Given the description of an element on the screen output the (x, y) to click on. 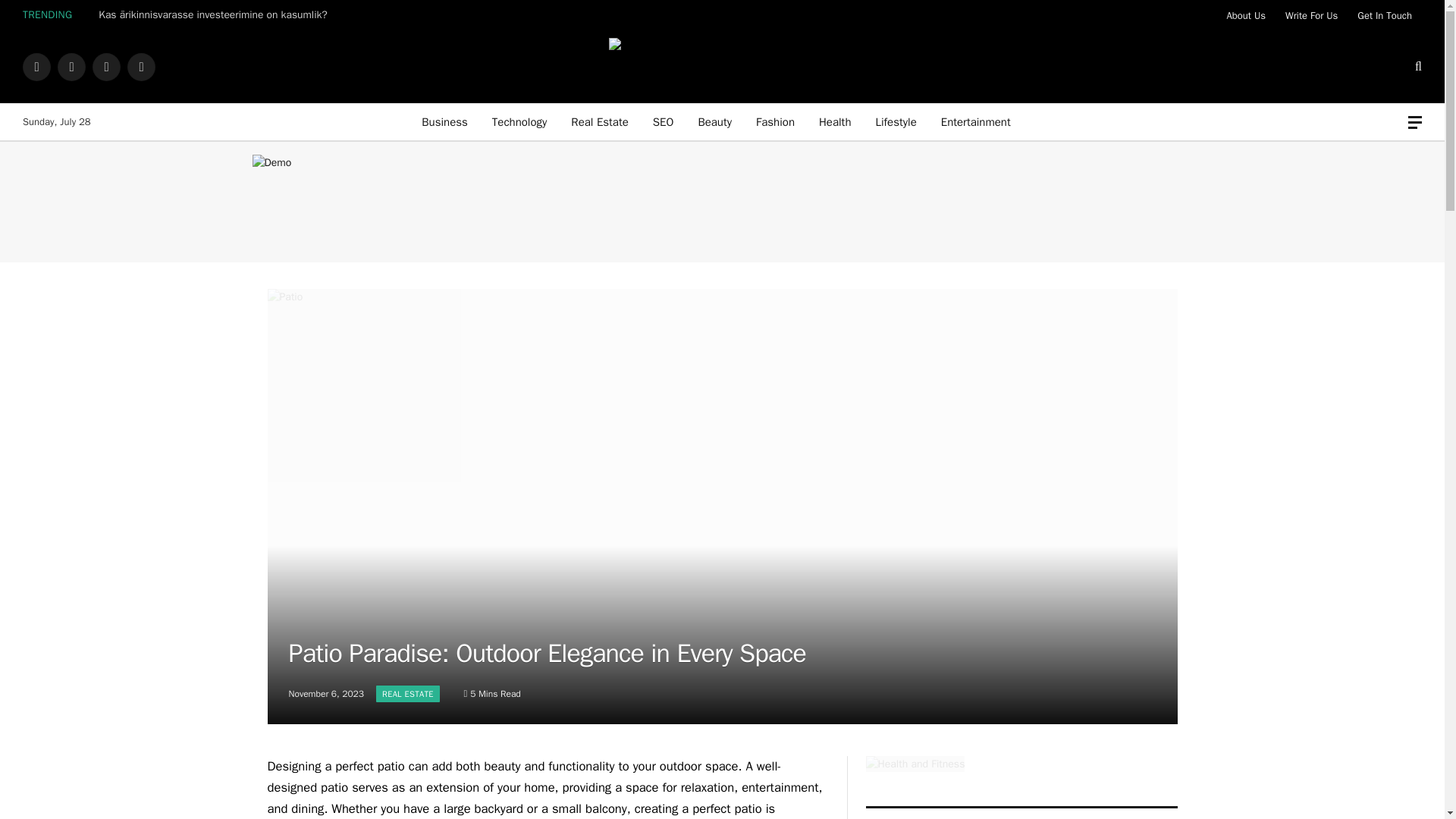
Instagram (106, 67)
Pinterest (141, 67)
Entertainment (975, 122)
Technology (519, 122)
Get In Touch (1385, 15)
Fashion (775, 122)
Twitter (71, 67)
Facebook (36, 67)
The Omniscient One (721, 66)
Health (834, 122)
Write For Us (1311, 15)
Beauty (714, 122)
SEO (662, 122)
About Us (1246, 15)
